Given the description of an element on the screen output the (x, y) to click on. 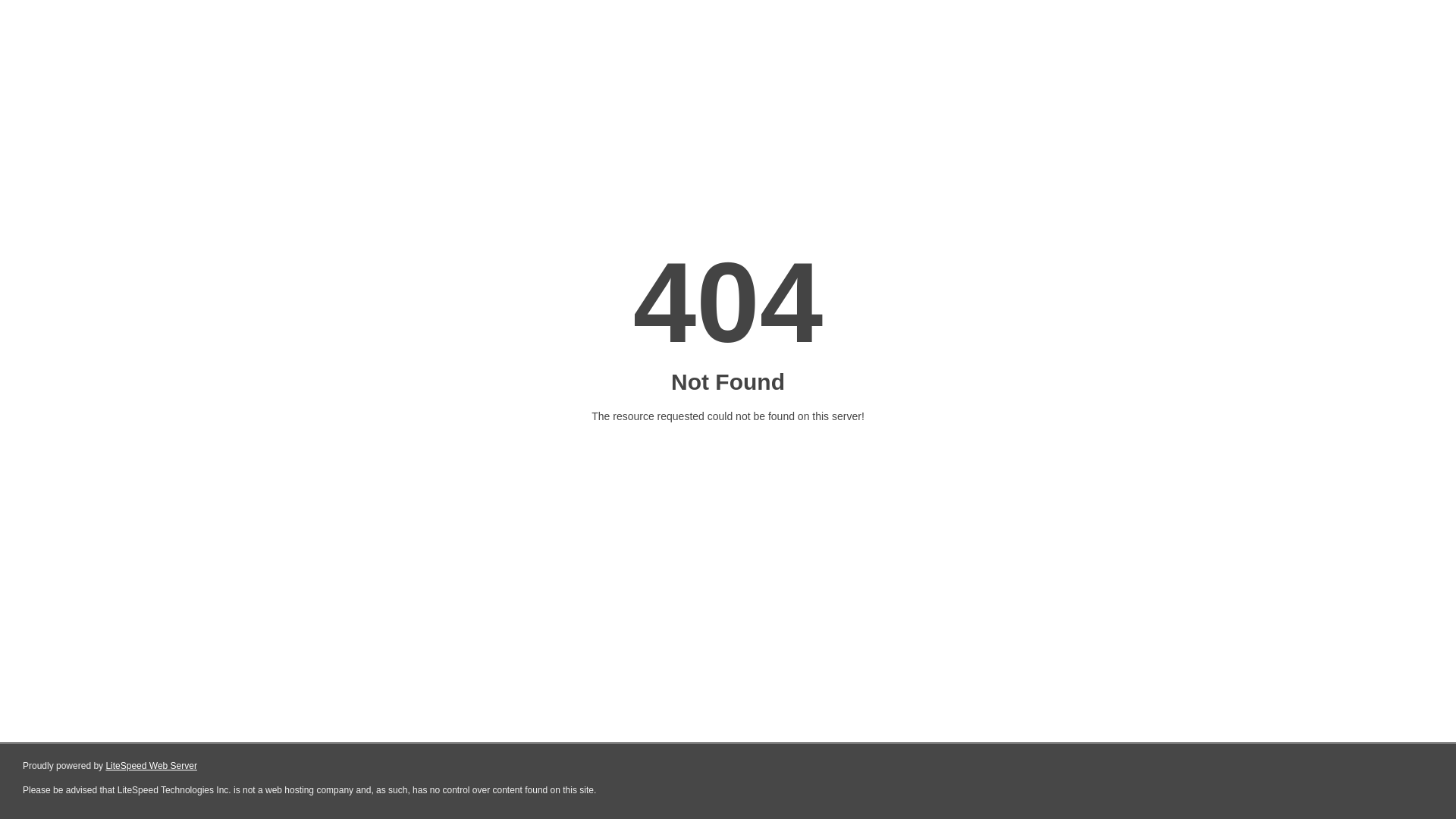
LiteSpeed Web Server Element type: text (151, 765)
